Given the description of an element on the screen output the (x, y) to click on. 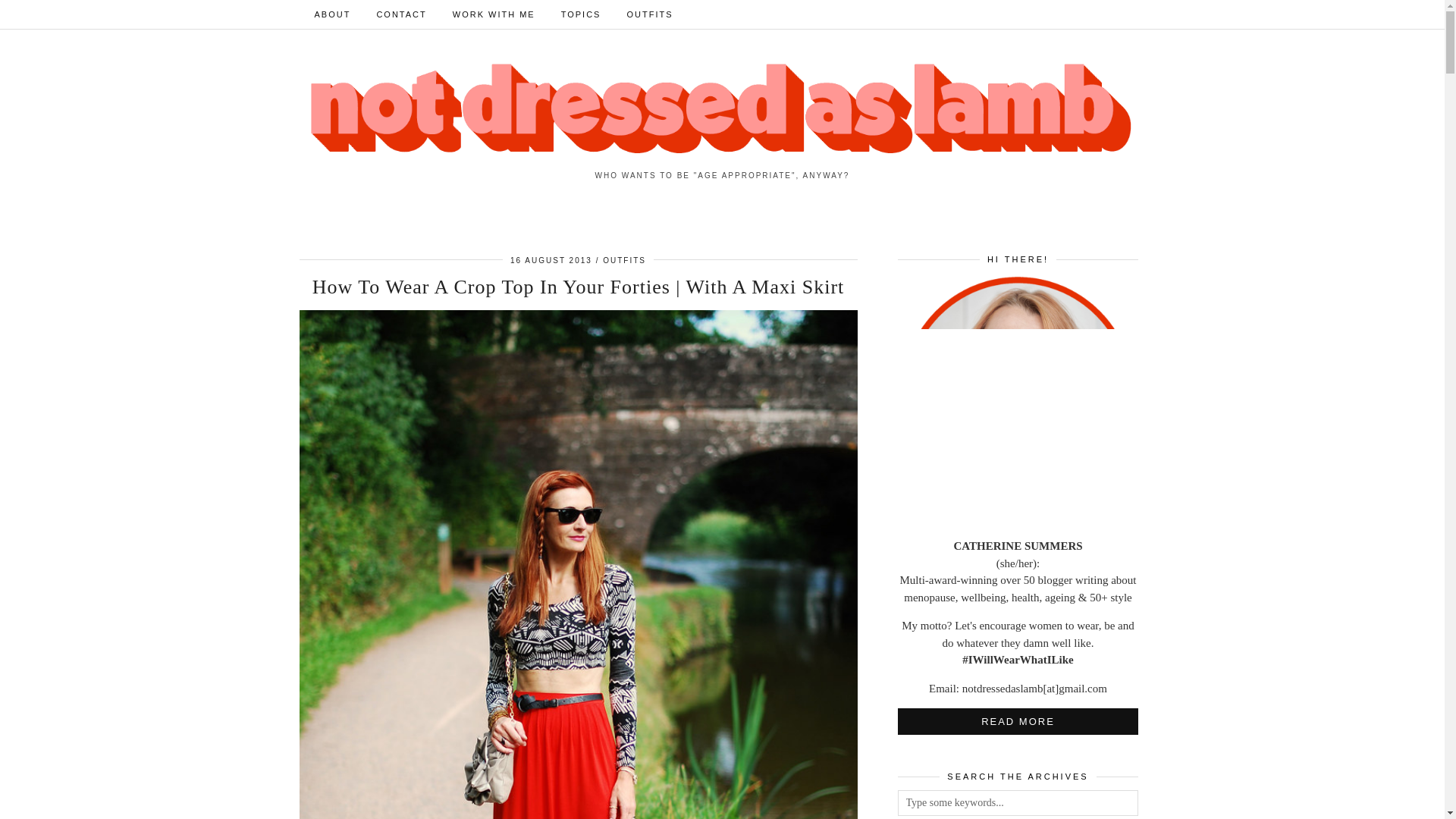
WORK WITH ME (493, 14)
ABOUT (332, 14)
OUTFITS (648, 14)
OUTFITS (624, 260)
Not Dressed As Lamb (721, 108)
TOPICS (581, 14)
CONTACT (400, 14)
